Given the description of an element on the screen output the (x, y) to click on. 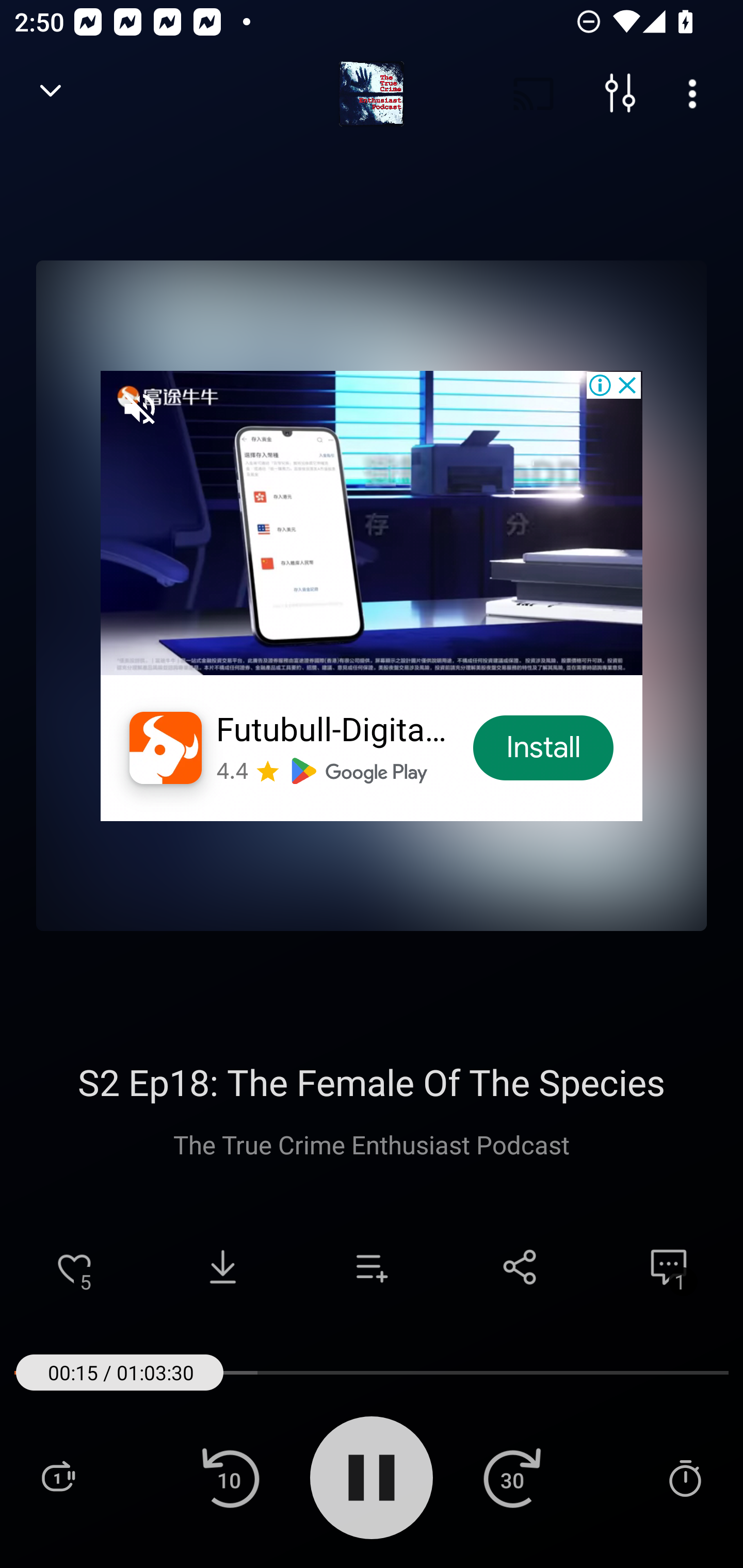
 Back (50, 94)
Futubull-Digita… 4.4 Install Install (371, 595)
Install (543, 747)
S2 Ep18: The Female Of The Species (371, 1081)
The True Crime Enthusiast Podcast (371, 1144)
1 Comments (668, 1266)
Add to Favorites (73, 1266)
Add to playlist (371, 1266)
Share (519, 1266)
 Playlist (57, 1477)
Sleep Timer  (684, 1477)
